Given the description of an element on the screen output the (x, y) to click on. 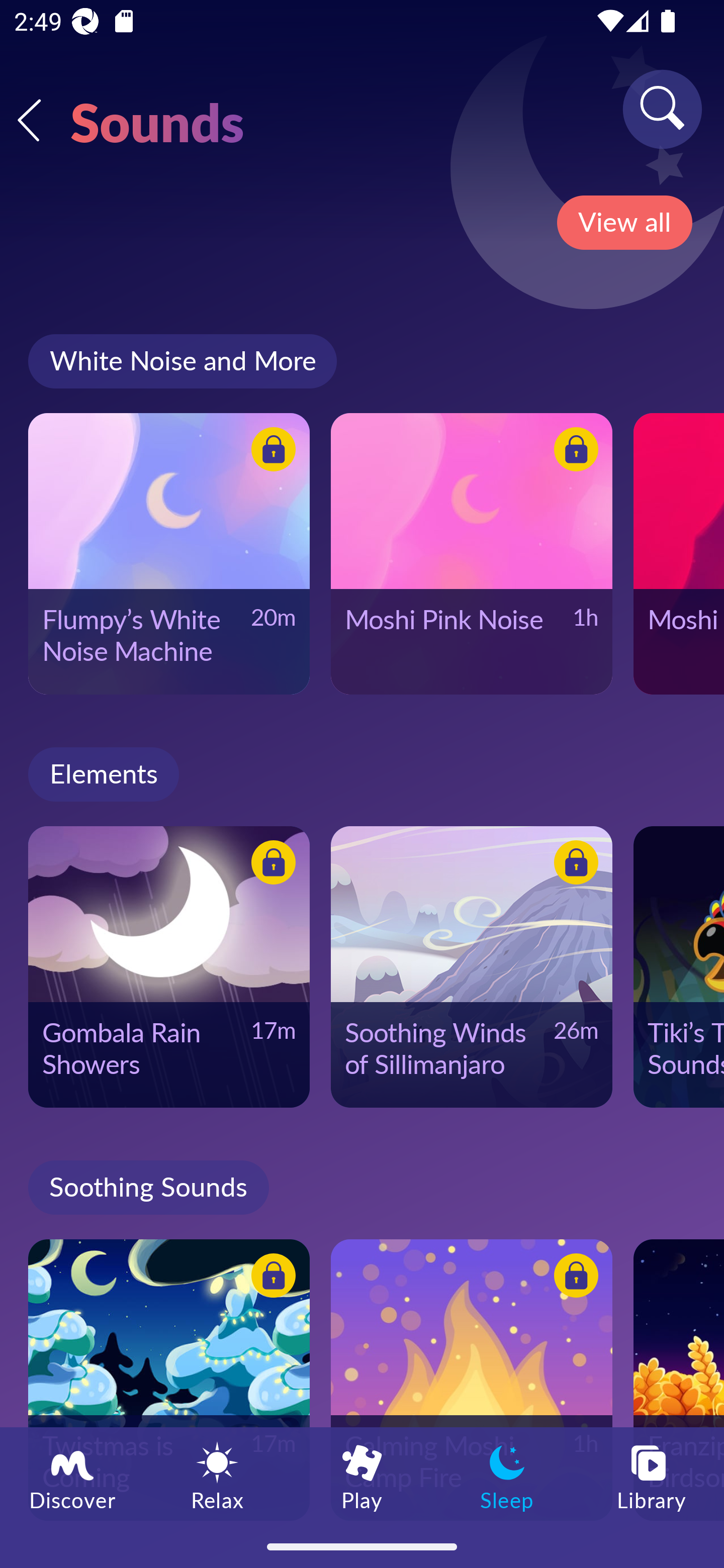
View all (624, 222)
Button (269, 451)
Featured Content Button Moshi Pink Noise 1h (471, 553)
Button (573, 451)
Featured Content Button Gombala Rain Showers 17m (168, 966)
Button (269, 865)
Button (573, 865)
Featured Content Button Twistmas is Coming 17m (168, 1379)
Button (269, 1277)
Featured Content Button Calming Moshi Camp Fire 1h (471, 1379)
Button (573, 1277)
Discover (72, 1475)
Relax (216, 1475)
Play (361, 1475)
Library (651, 1475)
